Given the description of an element on the screen output the (x, y) to click on. 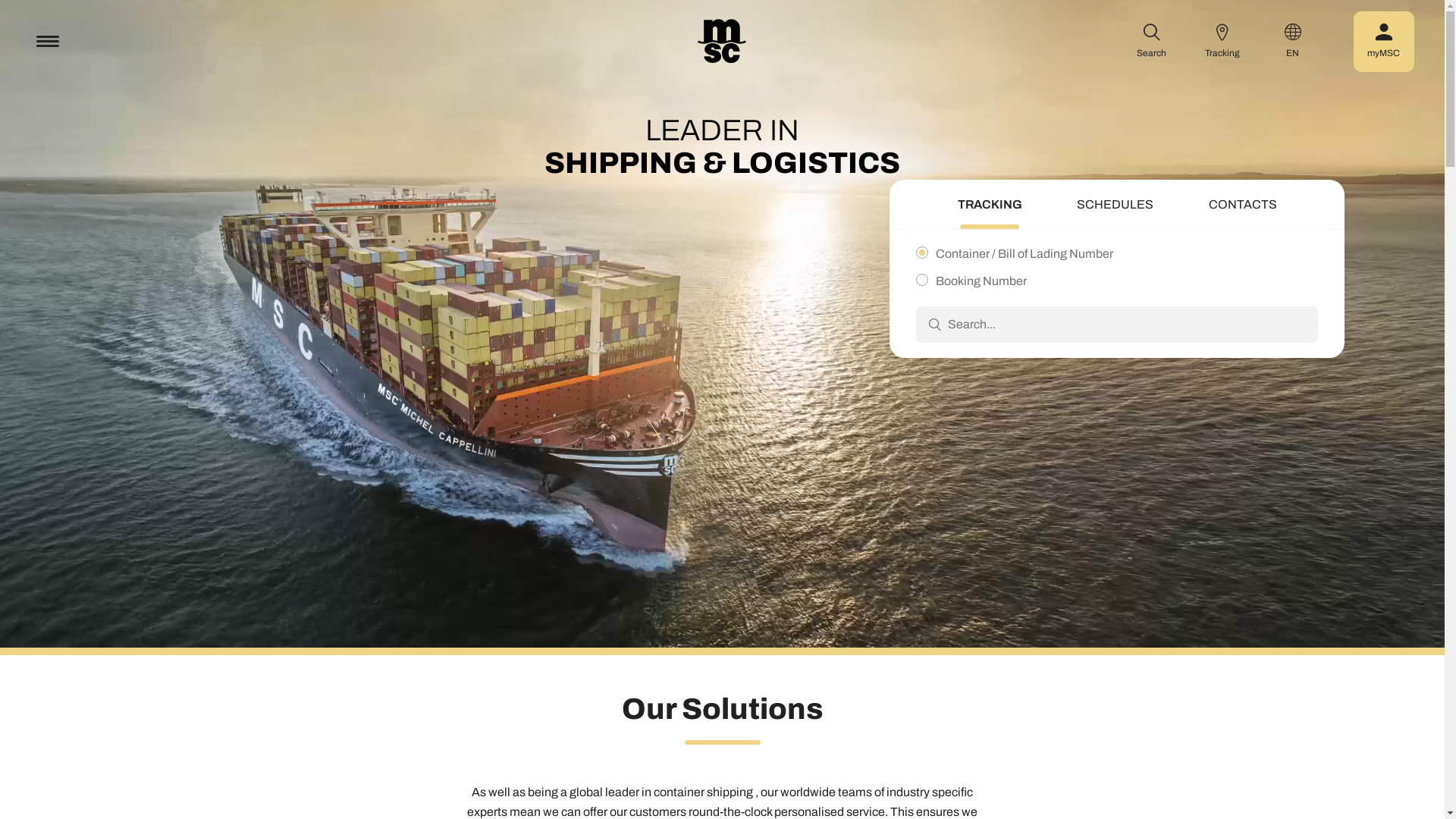
SCHEDULES Element type: text (1115, 205)
TRACKING Element type: text (989, 205)
Tracking Element type: text (1222, 40)
myMSC Element type: text (1383, 40)
EN Element type: text (1292, 40)
CONTACTS Element type: text (1242, 205)
Search Element type: text (1151, 40)
